Given the description of an element on the screen output the (x, y) to click on. 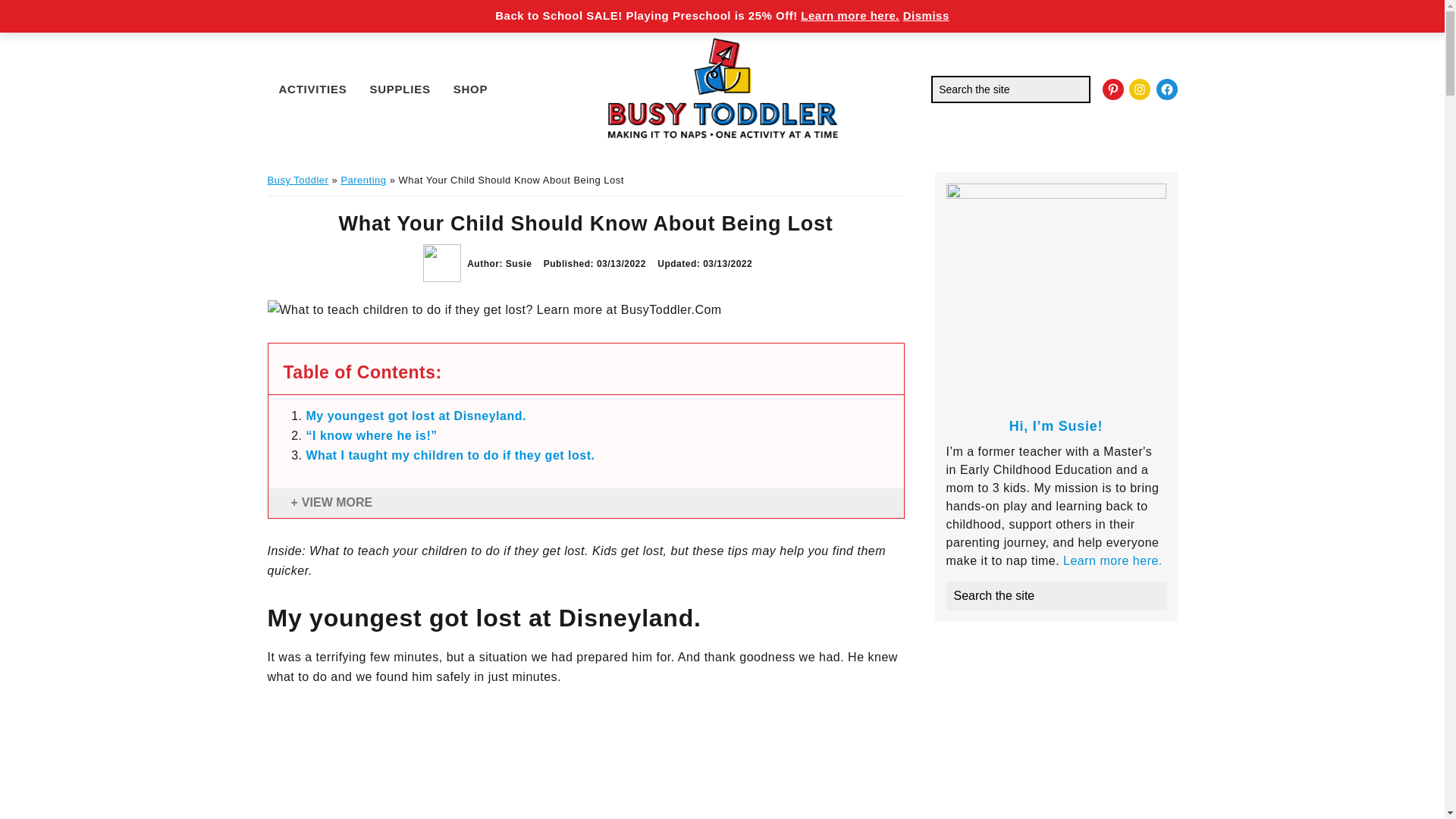
Pinterest (1113, 88)
SUPPLIES (400, 88)
Instagram (1139, 88)
Facebook (1166, 88)
SIGN ME UP! (954, 10)
Busy Toddler (297, 179)
SHOP (470, 88)
SIGN ME UP! (954, 10)
